Given the description of an element on the screen output the (x, y) to click on. 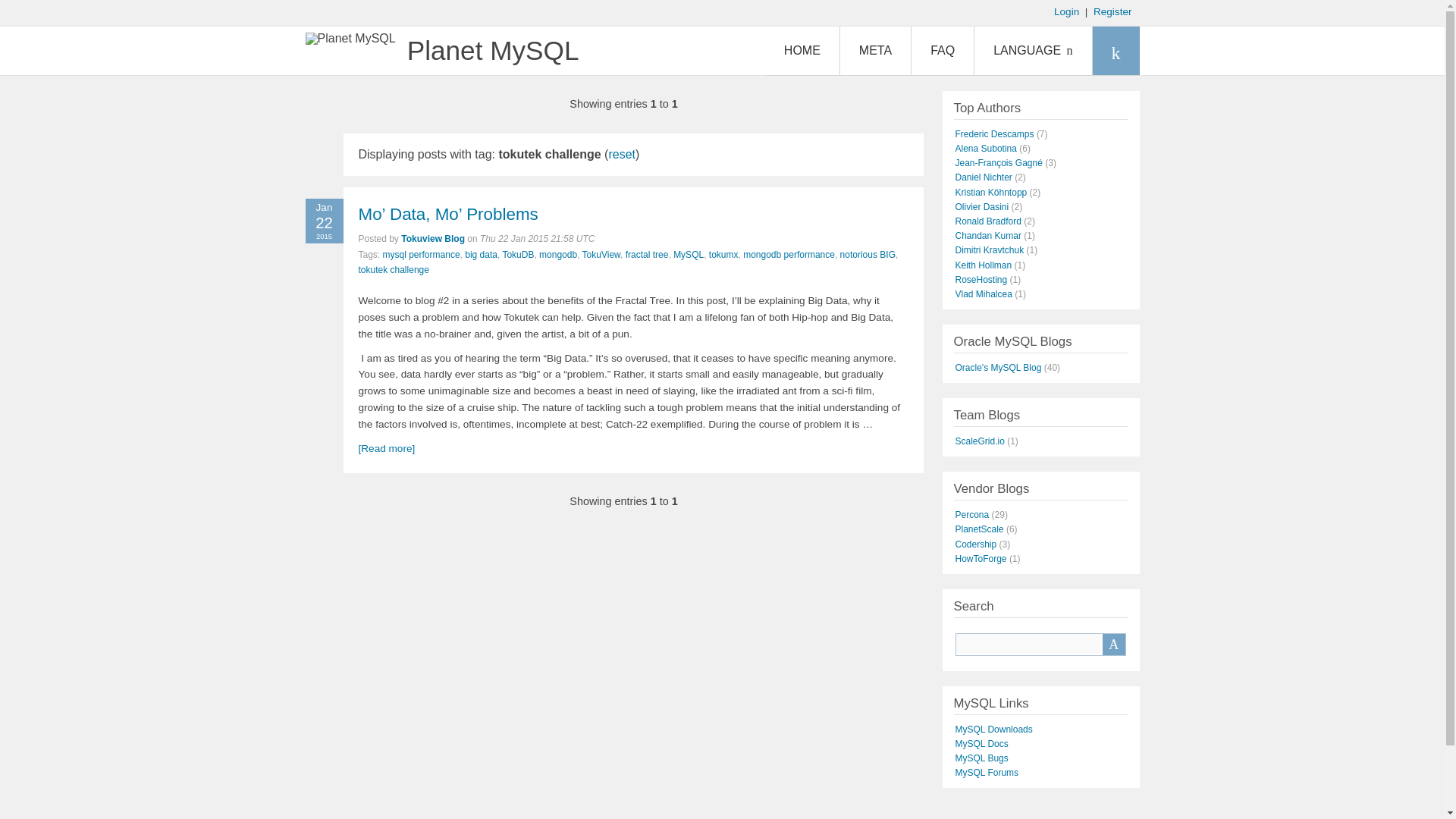
HOME (802, 50)
Tokuview Blog (432, 238)
FAQ (942, 50)
Register (1112, 11)
tokumx (723, 254)
MySQL (687, 254)
mysql performance (421, 254)
reset (621, 154)
notorious BIG (867, 254)
TokuView (601, 254)
